Given the description of an element on the screen output the (x, y) to click on. 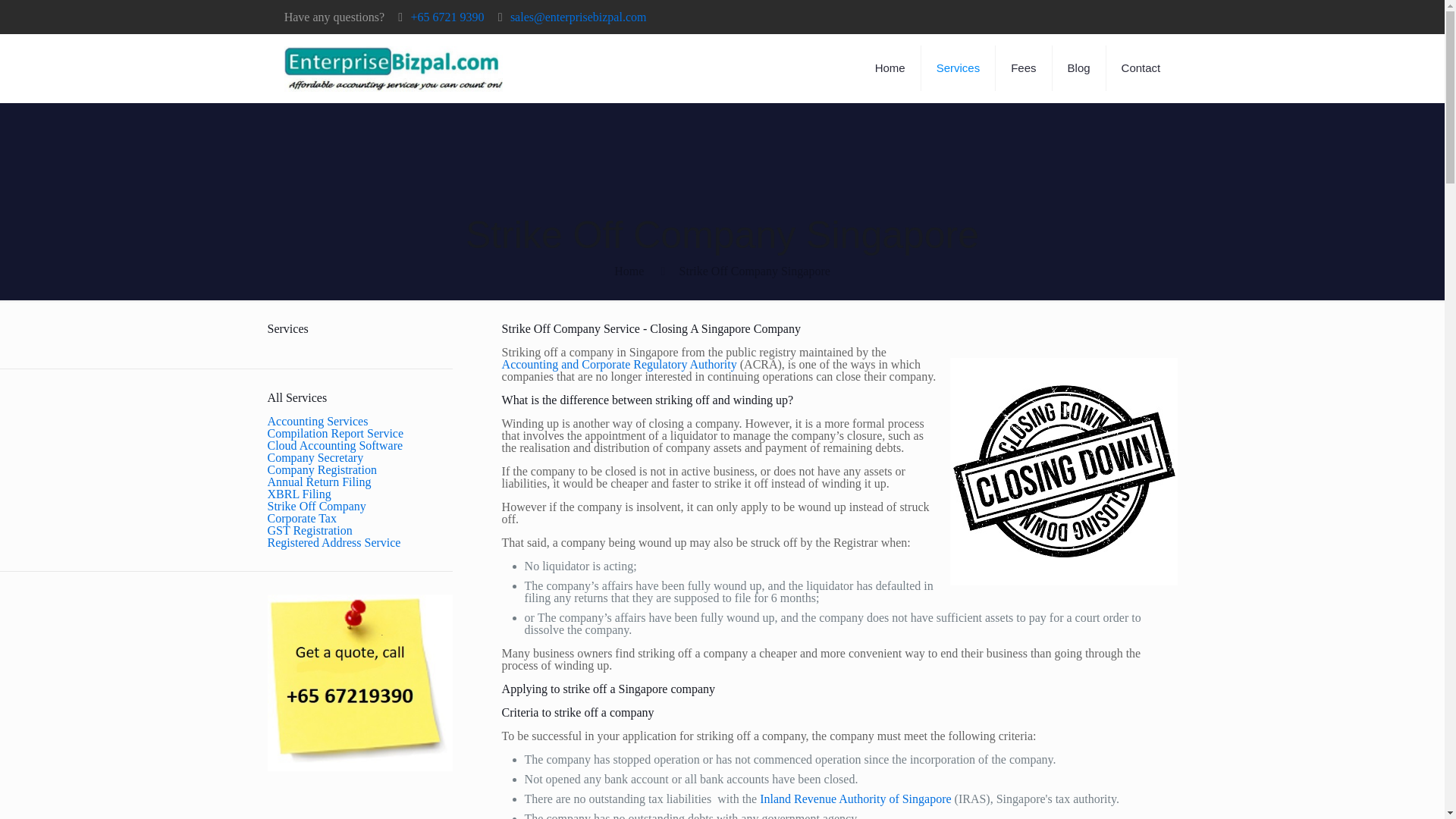
Services (958, 68)
Accounting and Corporate Regulatory Authority (619, 364)
Home (628, 270)
Inland Revenue Authority of Singapore (855, 798)
Home (890, 68)
Contact (1141, 68)
